Given the description of an element on the screen output the (x, y) to click on. 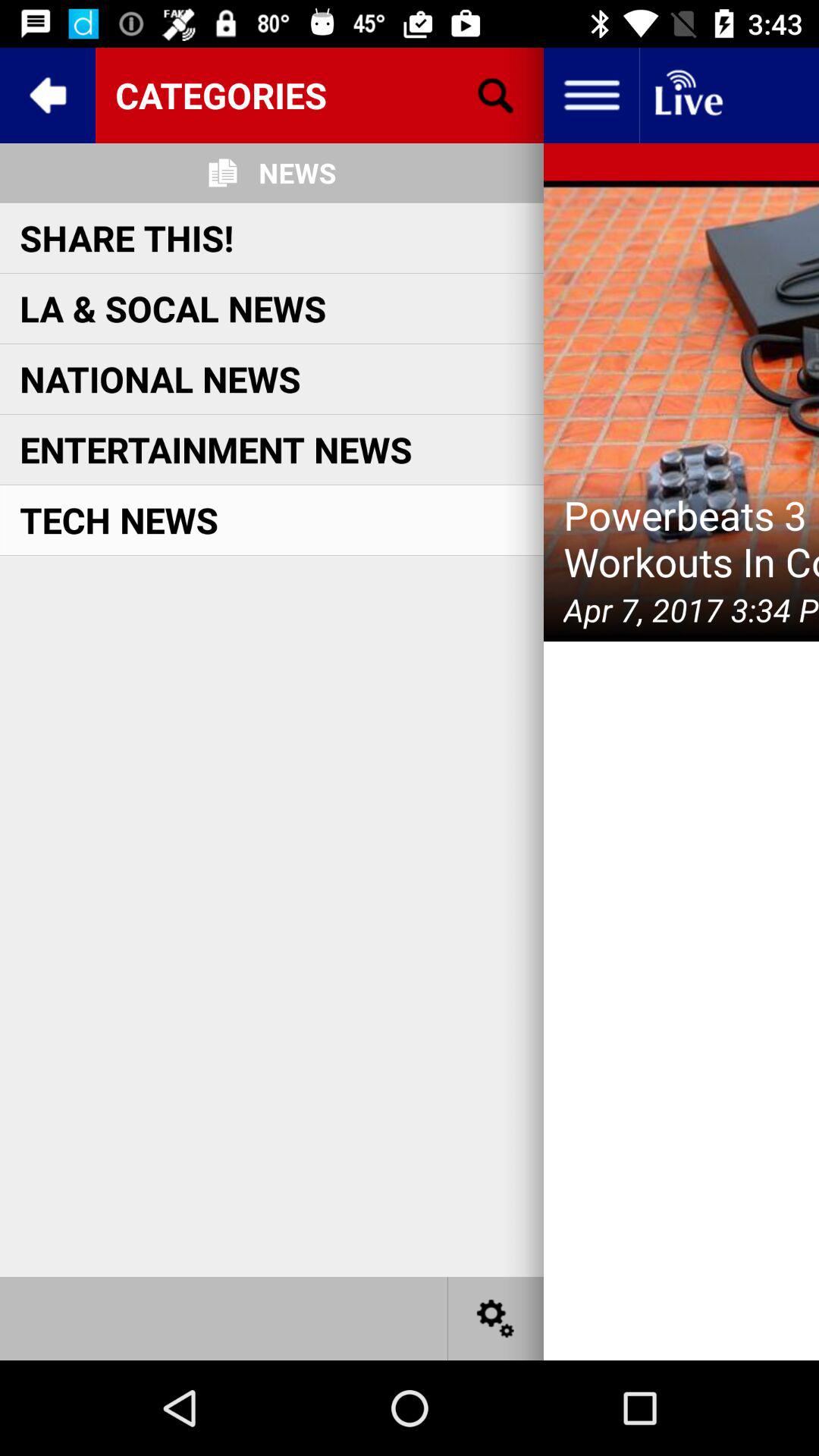
swipe to national news icon (159, 378)
